Given the description of an element on the screen output the (x, y) to click on. 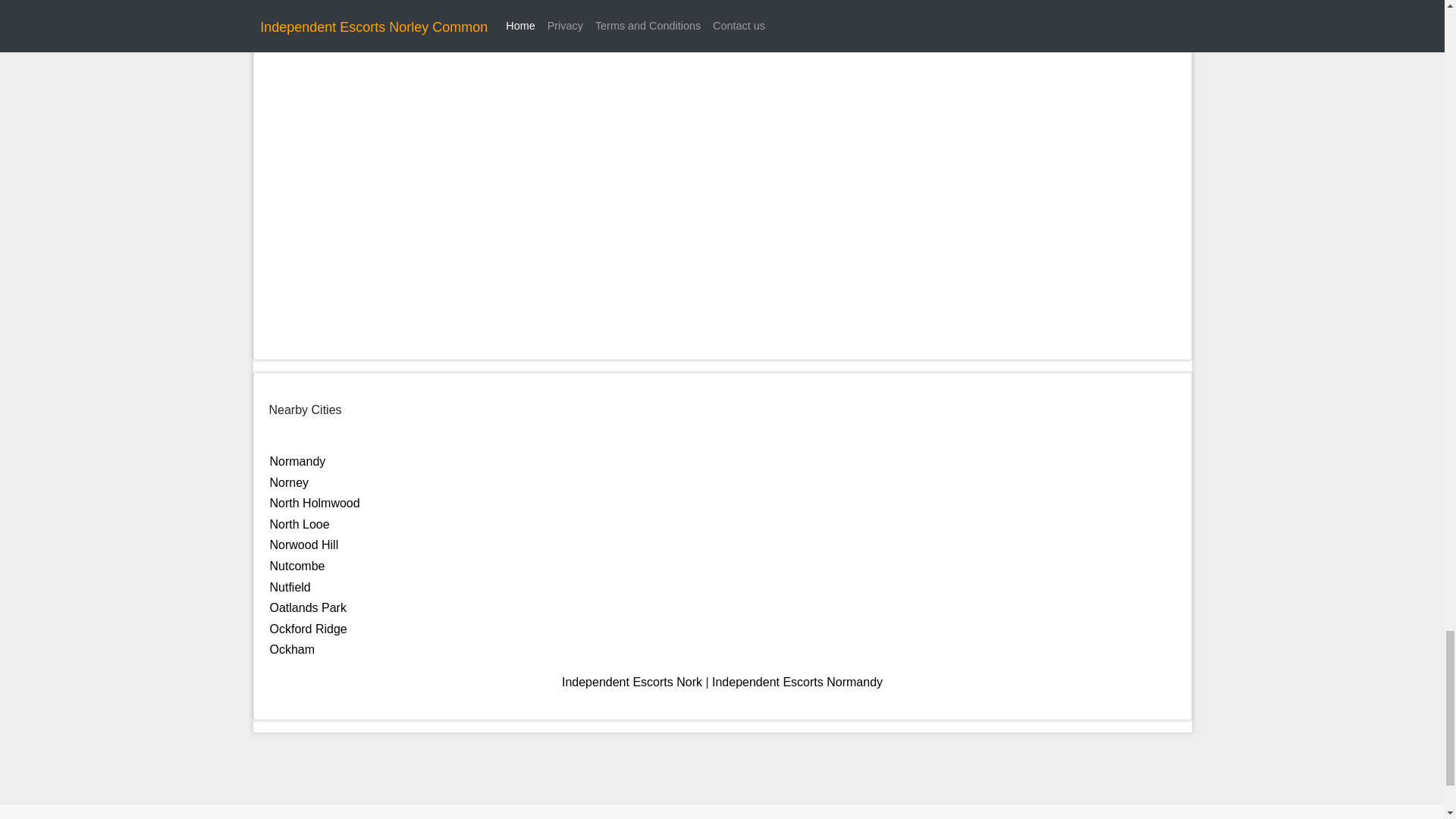
Independent Escorts Nork (631, 681)
Normandy (297, 461)
Ockham (292, 649)
North Holmwood (314, 502)
Norney (288, 481)
Nutcombe (296, 565)
Independent Escorts Normandy (796, 681)
North Looe (299, 523)
Oatlands Park (307, 607)
Ockford Ridge (308, 628)
Nutfield (290, 586)
Norwood Hill (304, 544)
